Given the description of an element on the screen output the (x, y) to click on. 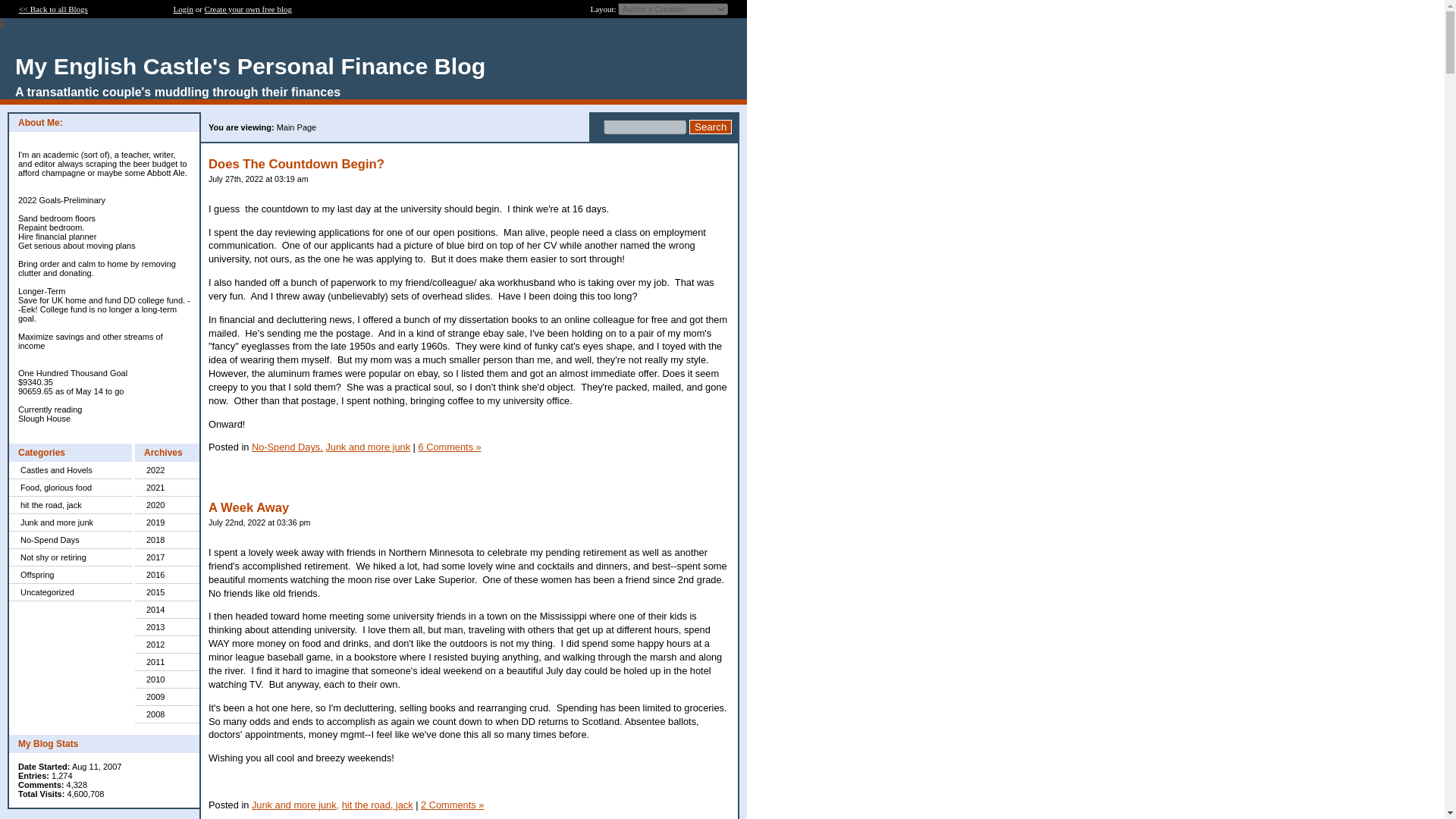
hit the road, jack (70, 505)
No-Spend Days (70, 539)
2021 (167, 487)
Not shy or retiring (70, 557)
Offspring (70, 574)
Create your own free blog (248, 8)
2019 (167, 522)
Junk and more junk (70, 522)
Uncategorized (70, 592)
2020 (167, 505)
